Given the description of an element on the screen output the (x, y) to click on. 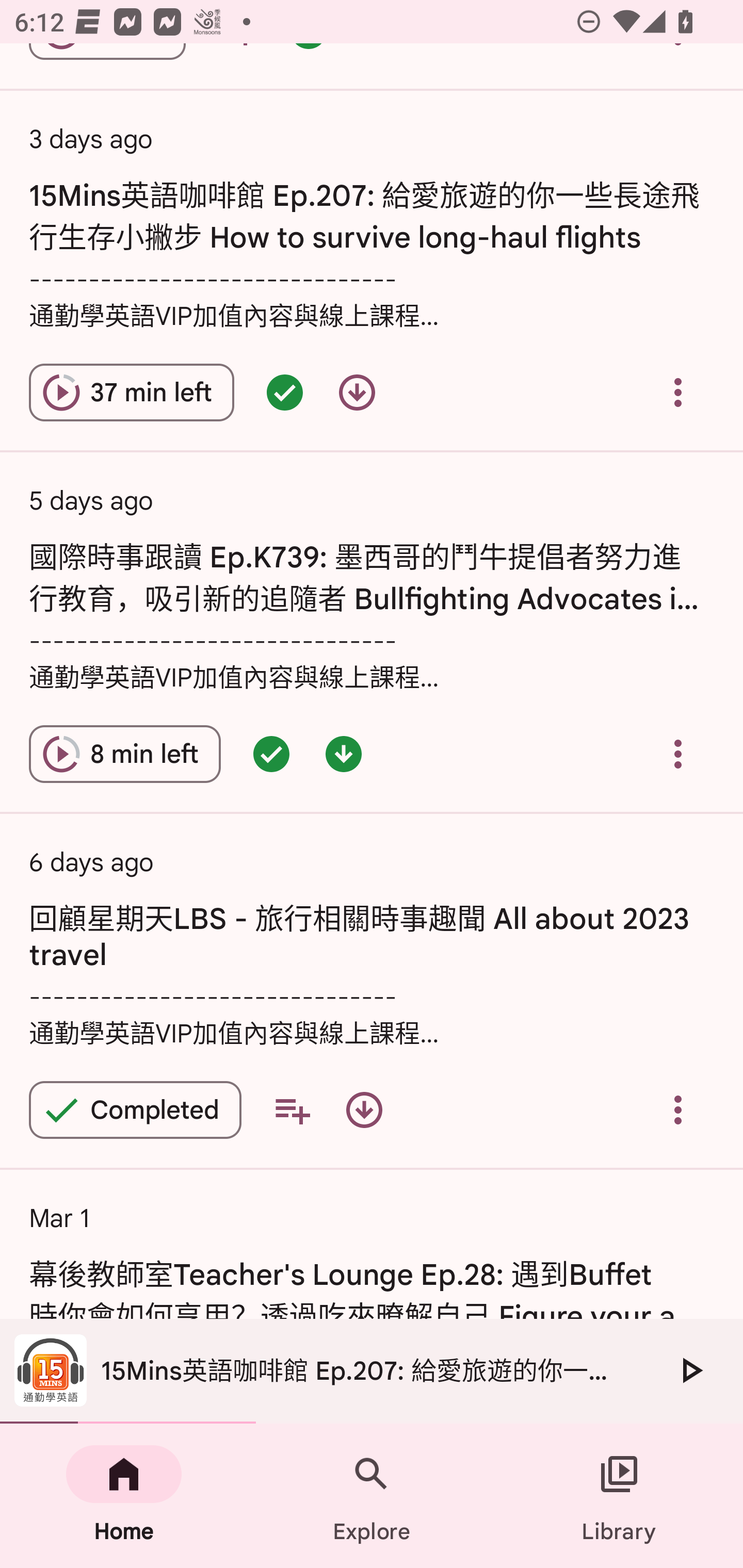
Episode queued - double tap for options (284, 392)
Download episode (356, 392)
Overflow menu (677, 392)
Episode queued - double tap for options (271, 754)
Episode downloaded - double tap for options (343, 754)
Overflow menu (677, 754)
Add to your queue (291, 1110)
Download episode (364, 1110)
Overflow menu (677, 1110)
Play (690, 1370)
Explore (371, 1495)
Library (619, 1495)
